Given the description of an element on the screen output the (x, y) to click on. 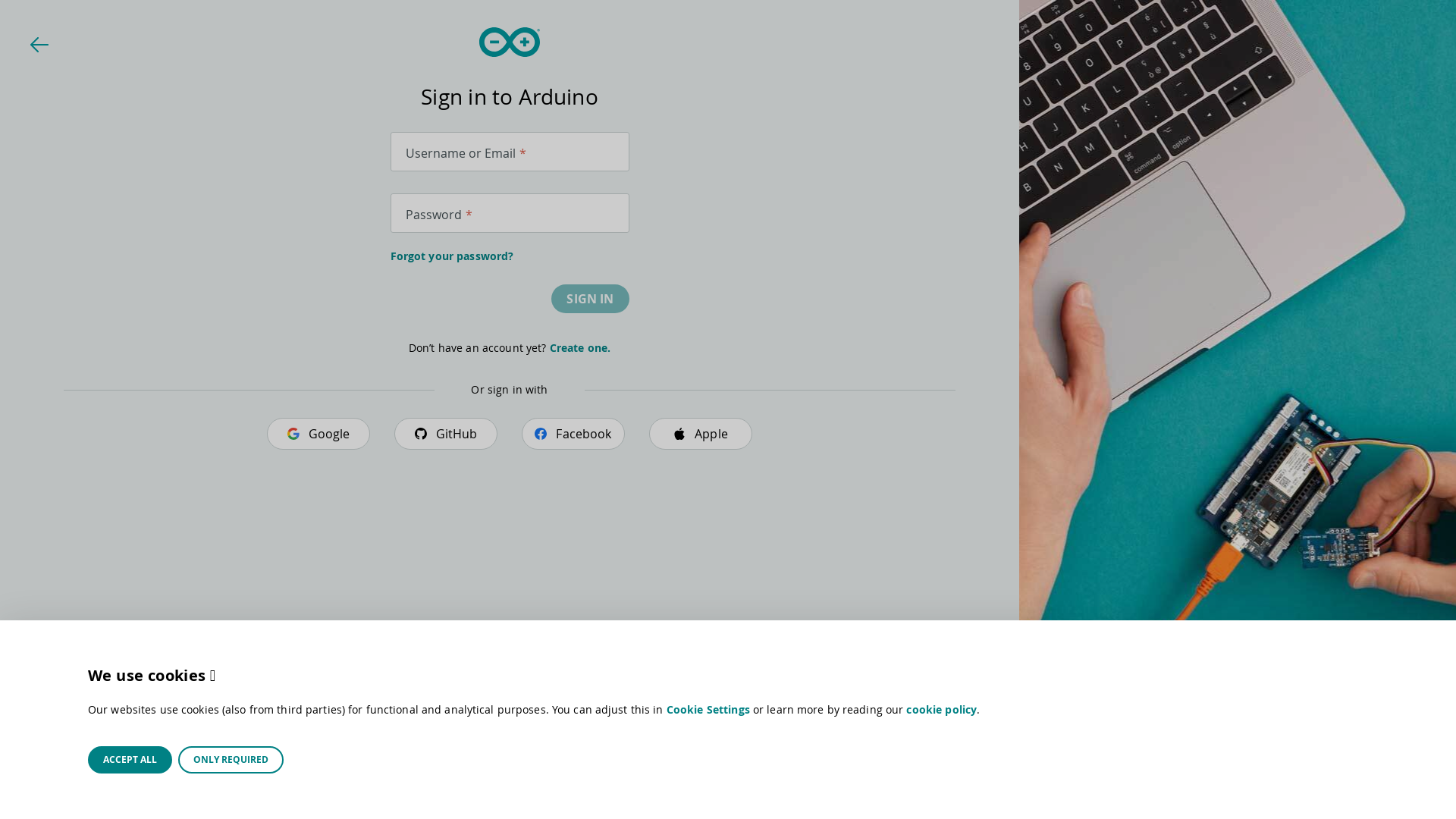
Create one. Element type: text (580, 347)
Cookie Settings Element type: text (680, 802)
Facebook Element type: text (572, 433)
Security Element type: text (594, 802)
GitHub Element type: text (445, 433)
Privacy Policy Element type: text (514, 802)
ONLY REQUIRED Element type: text (230, 759)
Terms Of Service Element type: text (412, 802)
SIGN IN Element type: text (589, 298)
Apple Element type: text (700, 433)
Forgot your password? Element type: text (508, 255)
Google Element type: text (318, 433)
Cookie Settings Element type: text (707, 709)
ACCEPT ALL Element type: text (129, 759)
cookie policy Element type: text (941, 709)
